Given the description of an element on the screen output the (x, y) to click on. 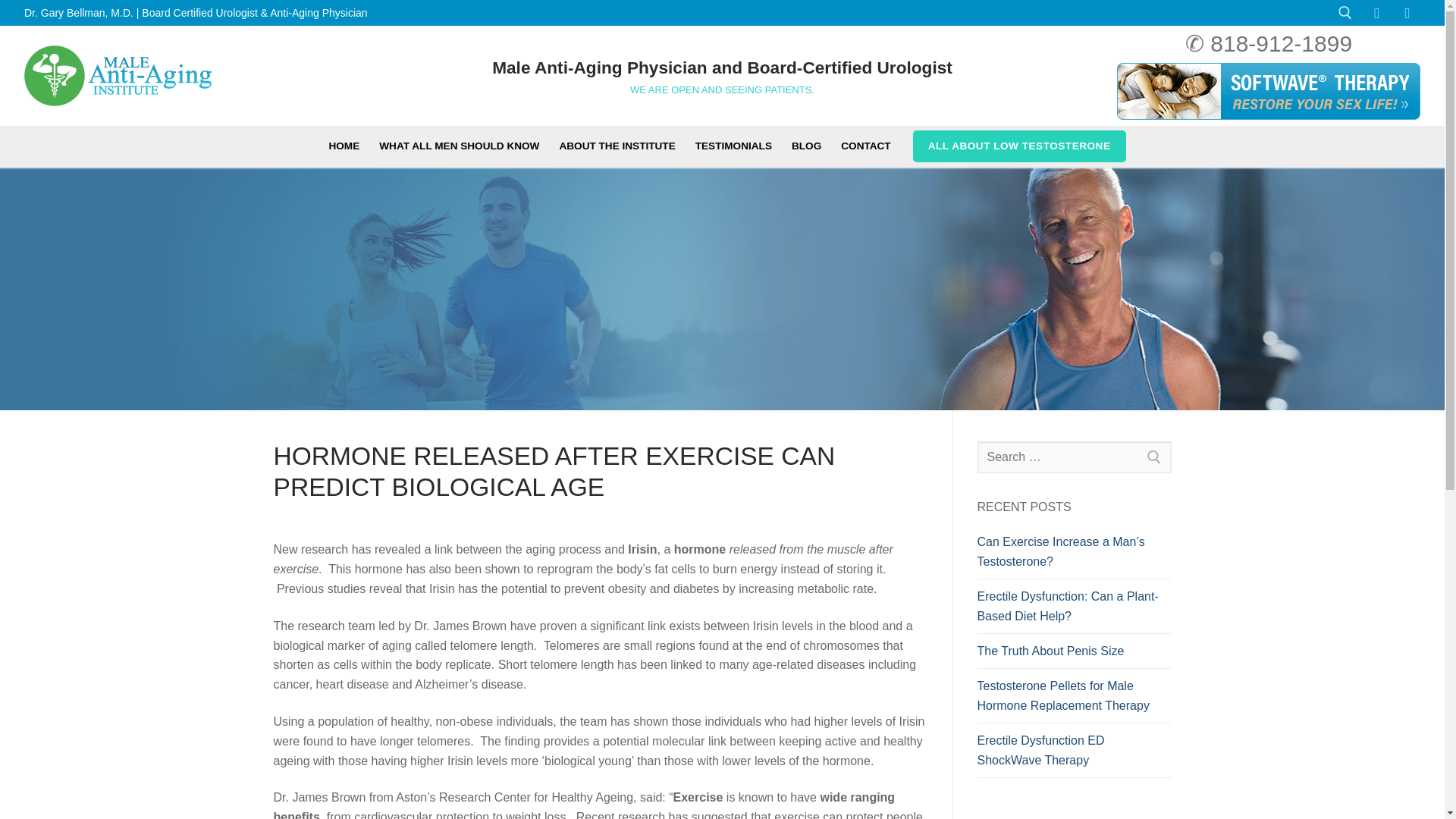
HOME (343, 146)
ABOUT THE INSTITUTE (616, 146)
Male Anti-Aging Institute (117, 75)
WHAT ALL MEN SHOULD KNOW (458, 146)
Testosterone Pellets for Male Hormone Replacement Therapy (1073, 699)
Erectile Dysfunction ED ShockWave Therapy (1073, 754)
BLOG (806, 146)
ALL ABOUT LOW TESTOSTERONE (1018, 146)
TESTIMONIALS (733, 146)
CONTACT (865, 146)
